Given the description of an element on the screen output the (x, y) to click on. 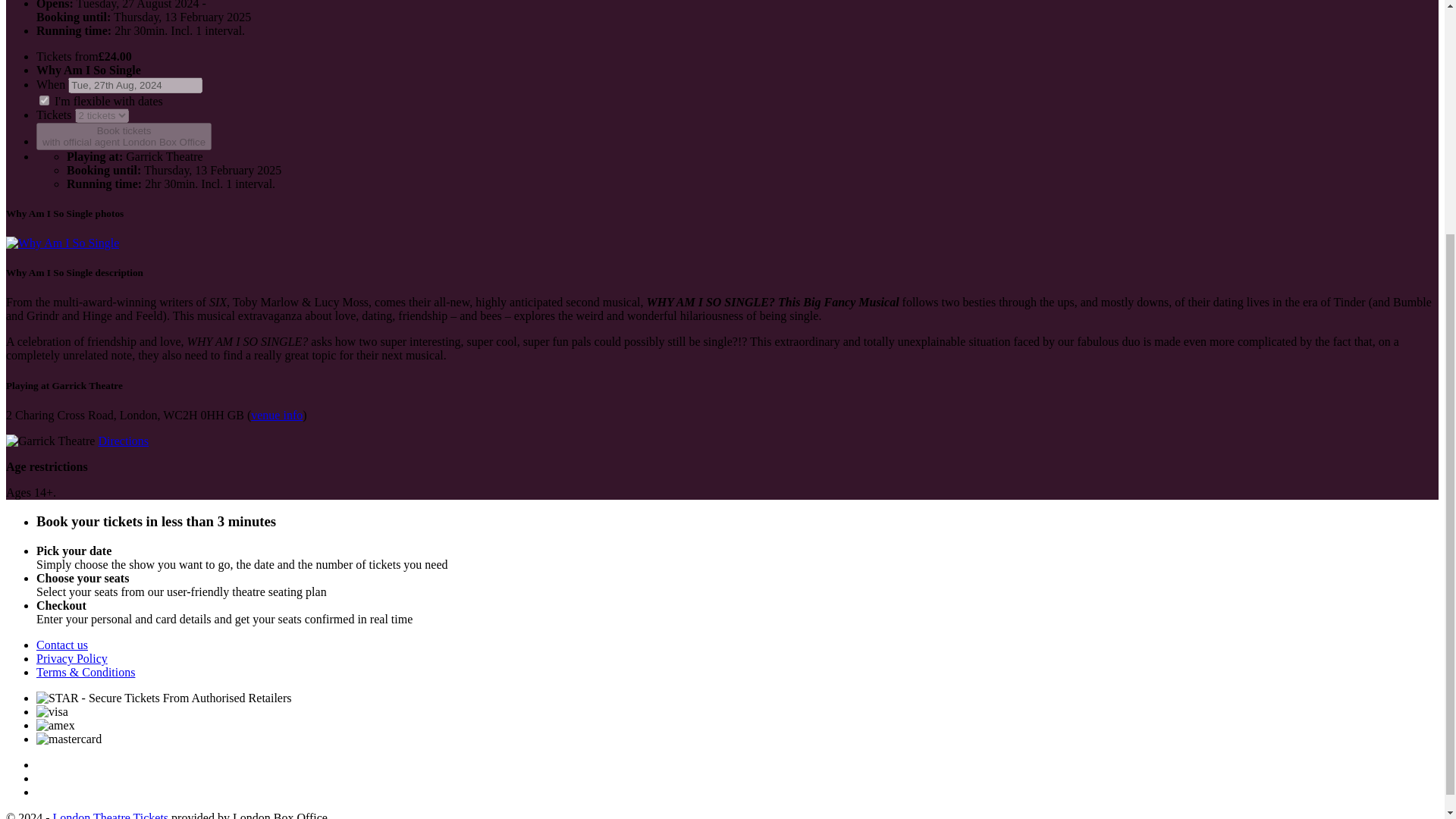
Garrick Theatre (49, 440)
Directions (122, 440)
amex (123, 135)
Privacy Policy (55, 725)
venue info (71, 658)
Why Am I So Single (276, 414)
Contact us (62, 242)
STAR - Secure Tickets From Authorised Retailers (61, 644)
Garrick Theatre (163, 698)
Why Am I So Single (276, 414)
on (62, 243)
directions to Garrick Theatre (44, 100)
mastercard (122, 440)
Tue, 27th Aug, 2024 (68, 739)
